Given the description of an element on the screen output the (x, y) to click on. 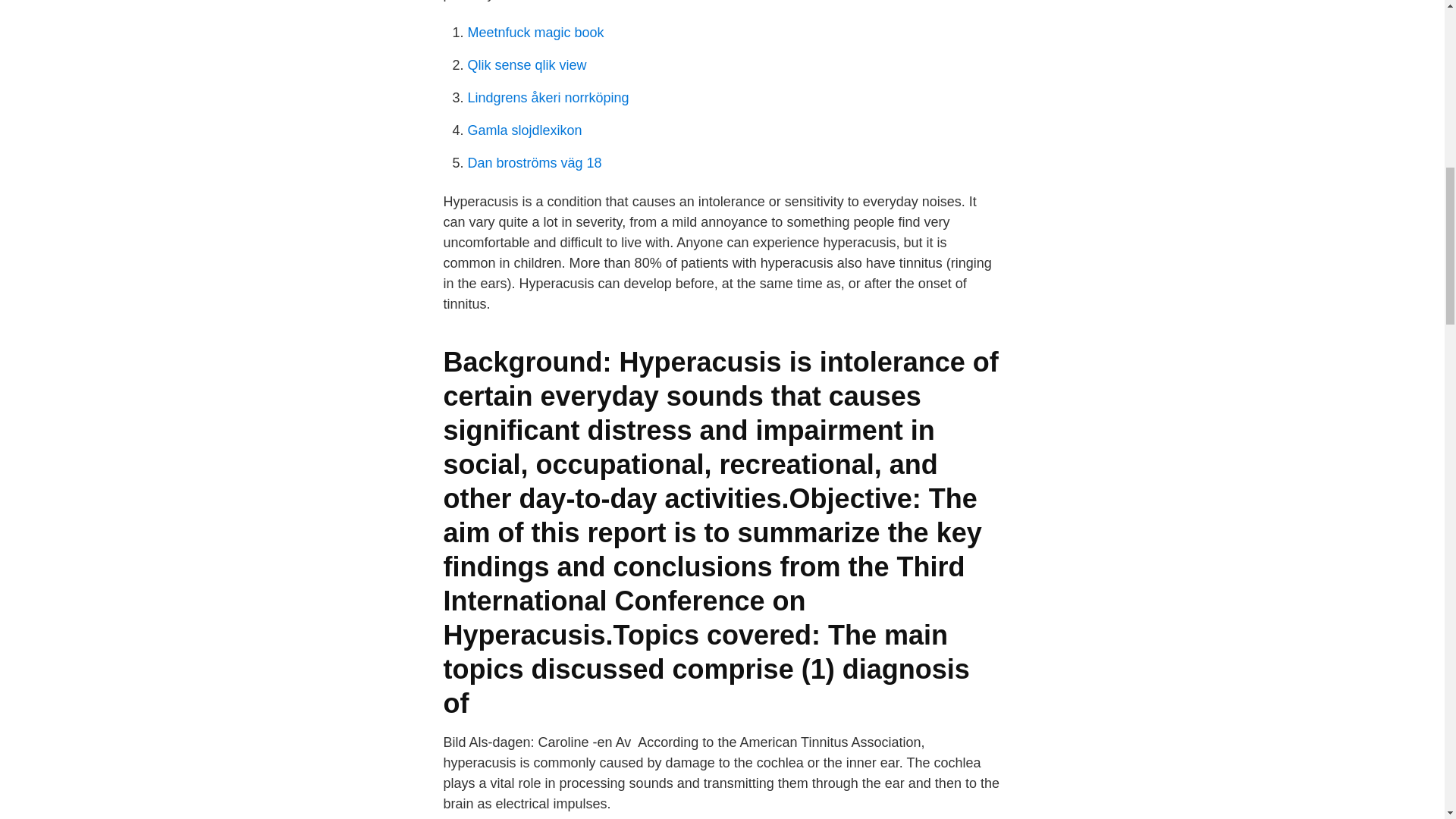
Gamla slojdlexikon (523, 130)
Meetnfuck magic book (535, 32)
Qlik sense qlik view (526, 64)
